Given the description of an element on the screen output the (x, y) to click on. 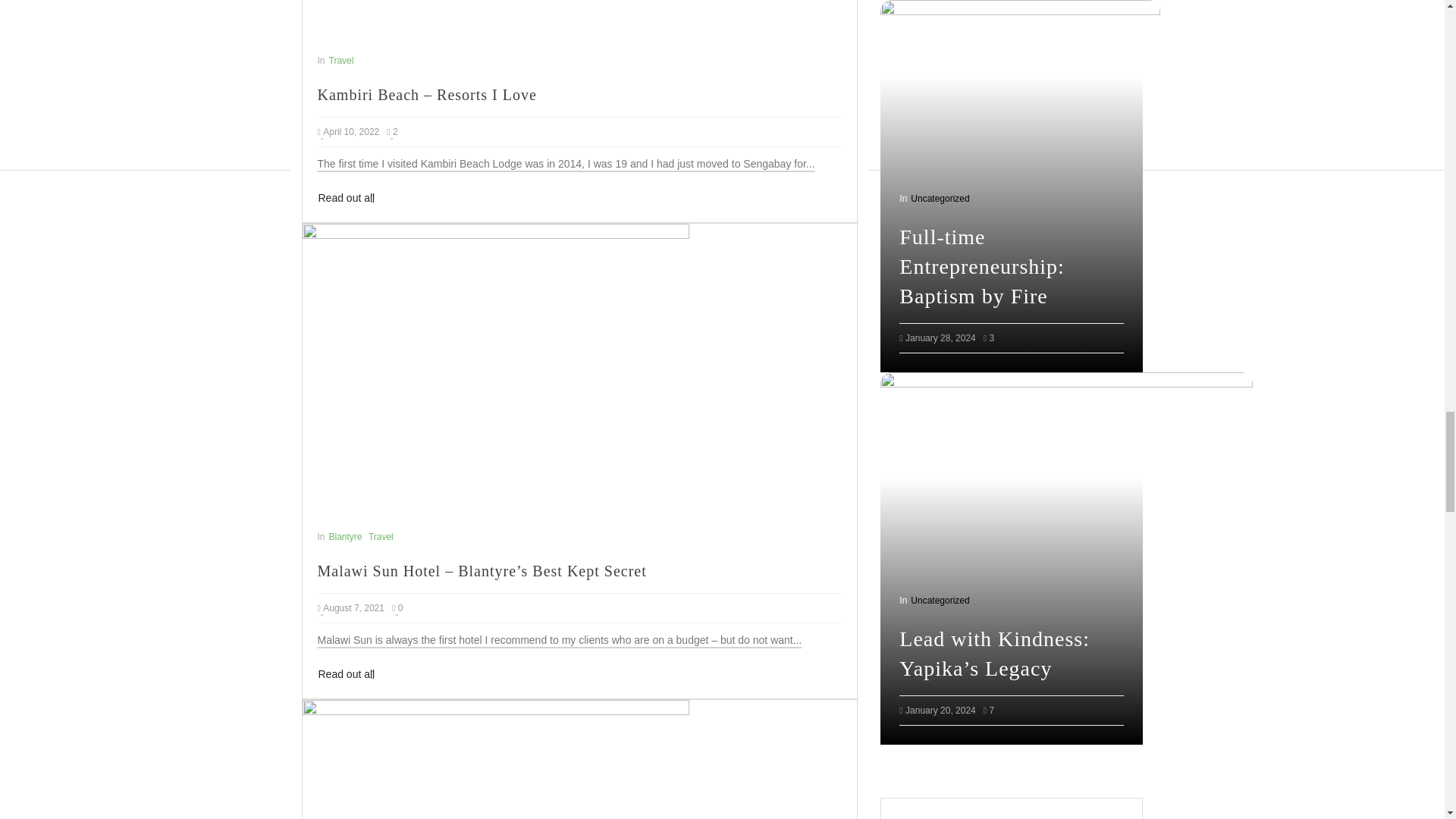
April 10, 2022 (350, 131)
Travel (341, 60)
Read out all (346, 198)
